Given the description of an element on the screen output the (x, y) to click on. 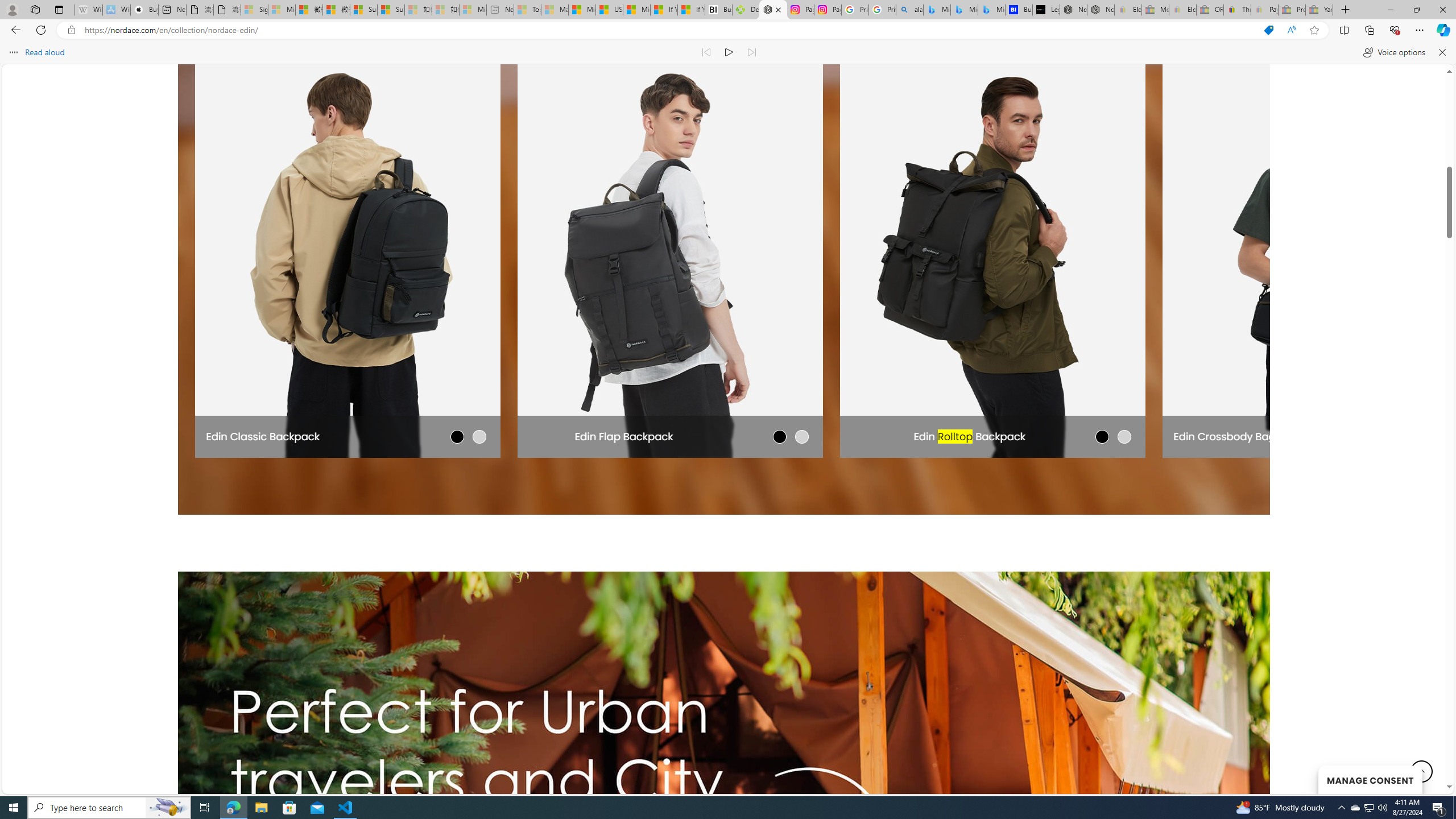
View site information (70, 29)
Threats and offensive language policy | eBay (1236, 9)
Settings and more (Alt+F) (1419, 29)
Microsoft Start (636, 9)
Top Stories - MSN - Sleeping (527, 9)
Browser essentials (1394, 29)
New tab - Sleeping (499, 9)
App bar (728, 29)
Wikipedia - Sleeping (88, 9)
Edin Classic Backpack (262, 436)
Tab actions menu (58, 9)
alabama high school quarterback dies - Search (909, 9)
Continue to read aloud (Ctrl+Shift+U) (729, 52)
